Given the description of an element on the screen output the (x, y) to click on. 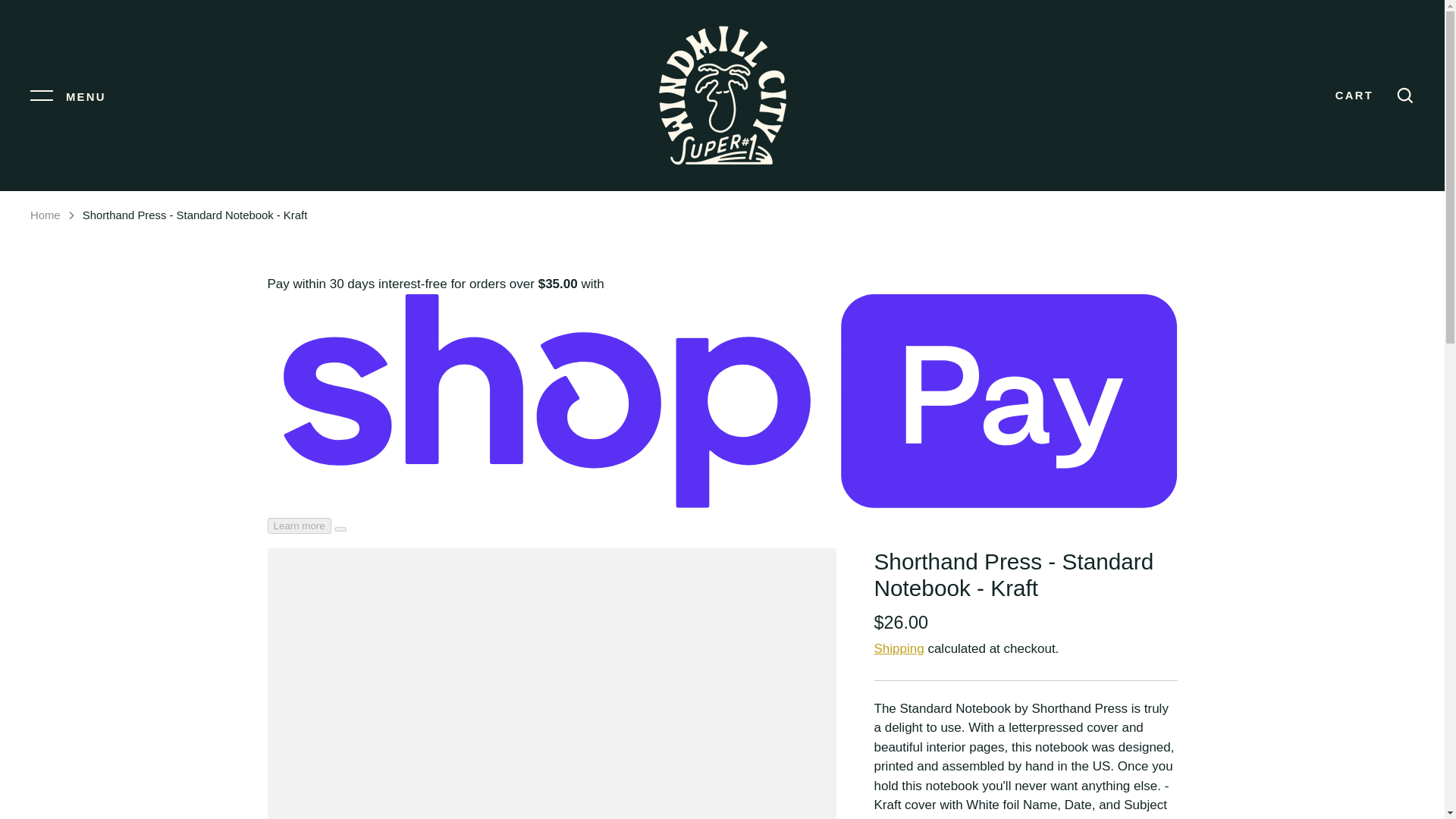
SEARCH (1404, 95)
SEARCH (1404, 95)
CART (1354, 95)
Shipping (898, 648)
MENU (68, 94)
Home (45, 215)
